Given the description of an element on the screen output the (x, y) to click on. 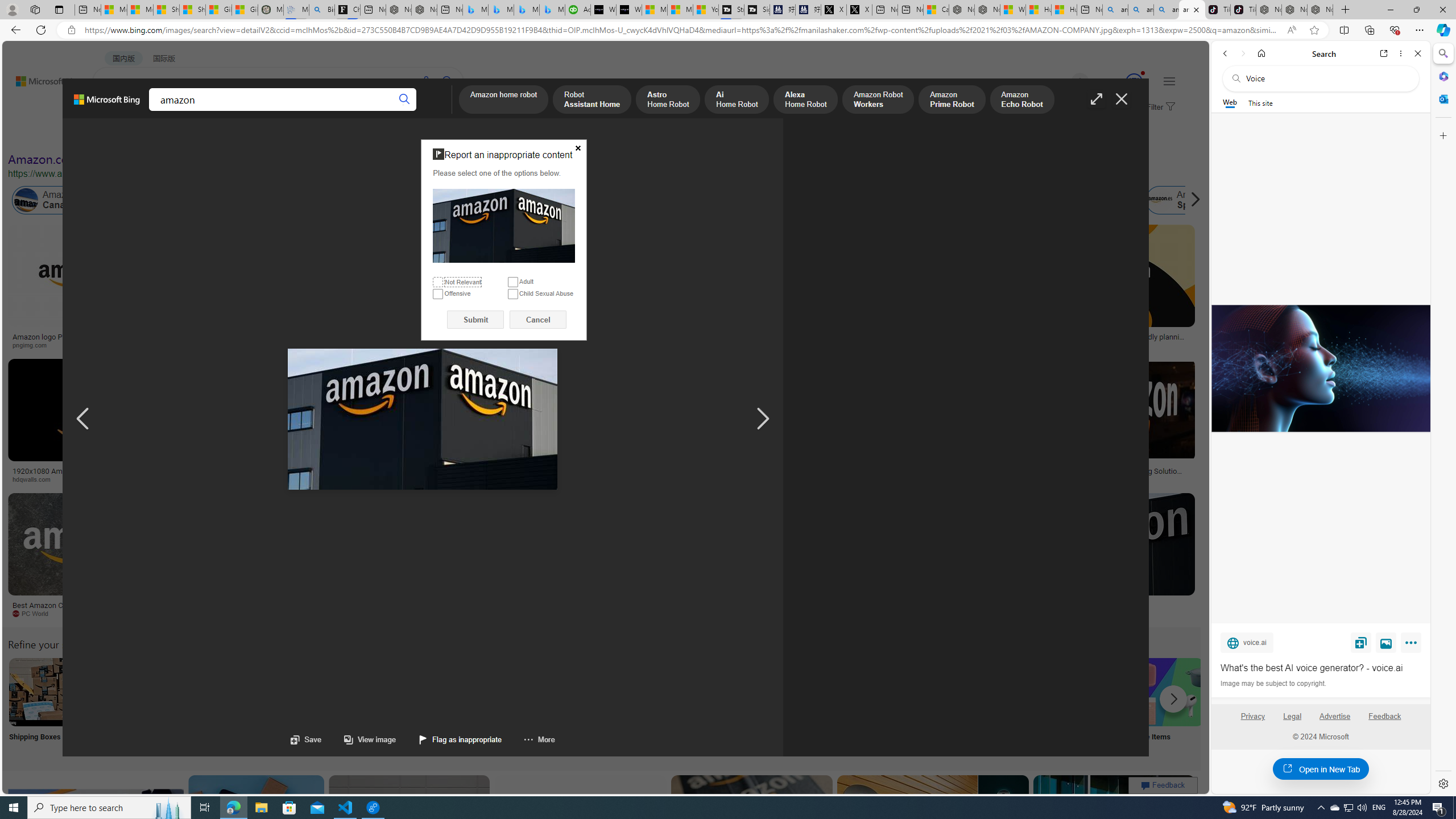
Layout (252, 135)
pngimg.com (34, 344)
protothema.gr (1105, 613)
WEB (114, 111)
Amazon Echo Robot (1022, 100)
Long Island Press (628, 479)
Amazon Forest (1023, 199)
Prime Label (1018, 706)
Online Shopping Homepage (868, 706)
Ai Home Robot (737, 100)
Amazon.com.au (881, 200)
